Given the description of an element on the screen output the (x, y) to click on. 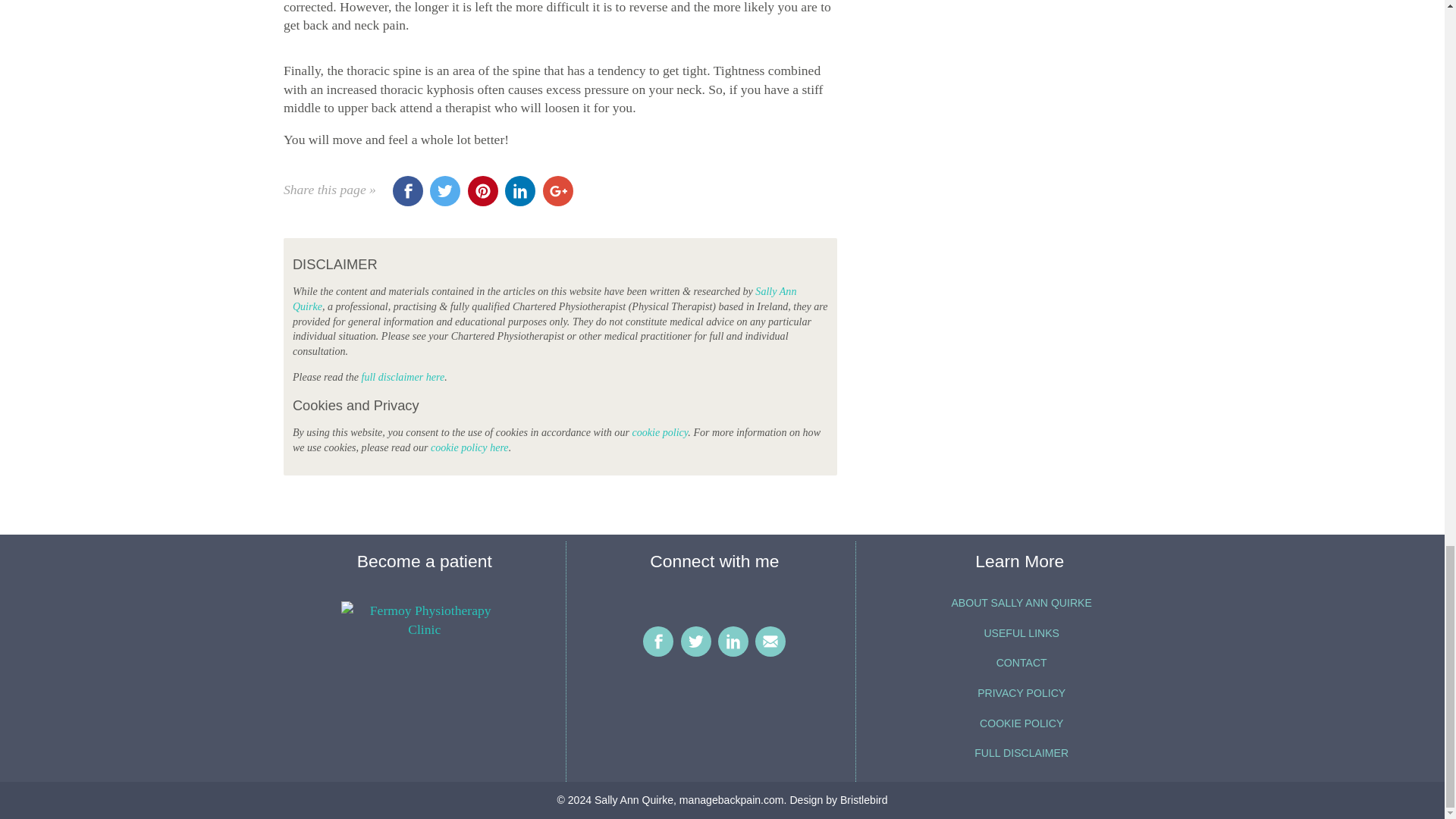
Contact us (770, 641)
Follow us on Twitter (696, 641)
Share on Facebook (408, 191)
Share on Pinterest (482, 191)
Share on Twitter (444, 191)
Follow us on Facebook (657, 641)
Share on Google Plus (558, 191)
Share on Linked in (520, 191)
Connect on Linked in (732, 641)
